Given the description of an element on the screen output the (x, y) to click on. 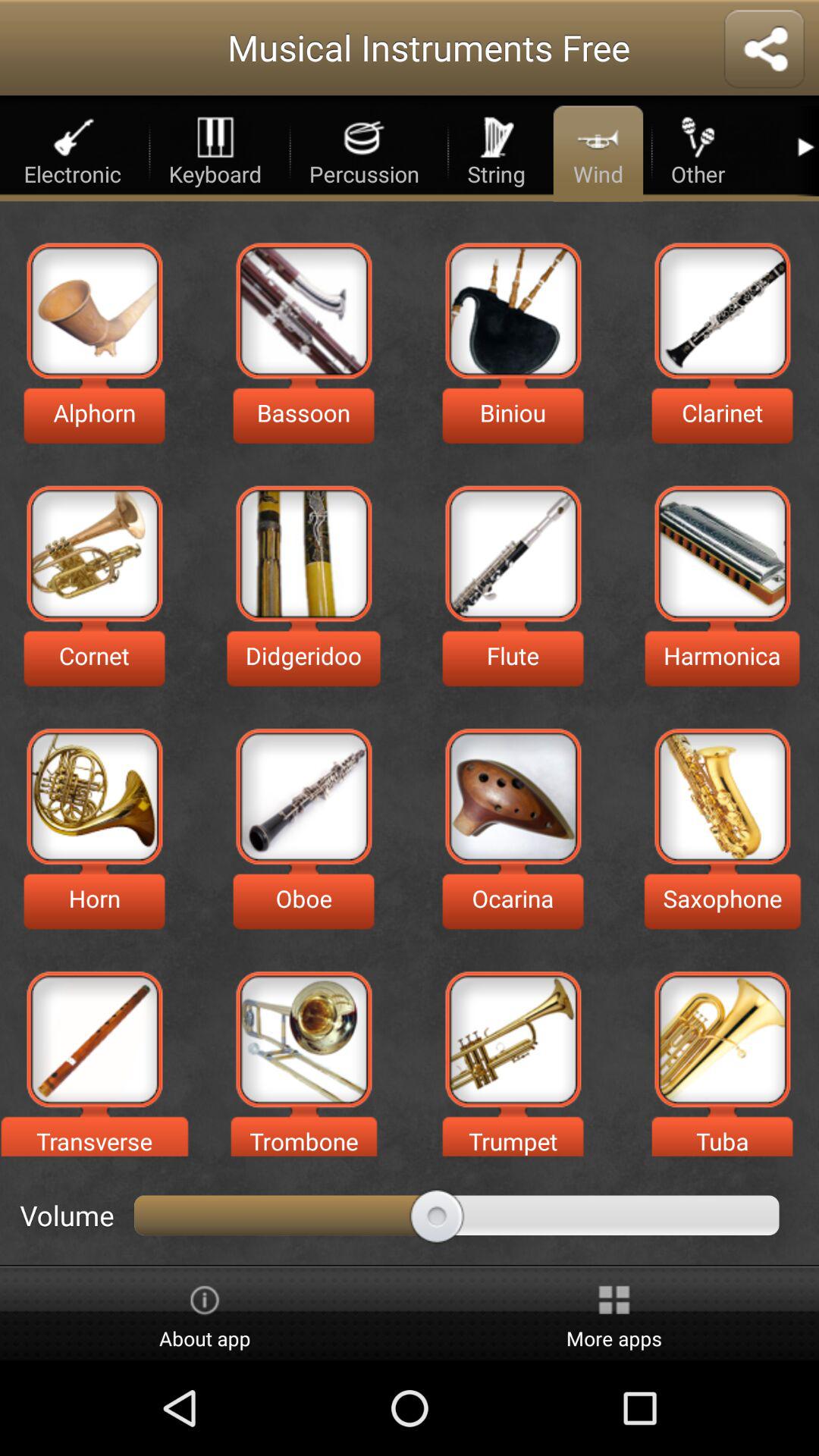
choose didgeridoo (303, 553)
